Given the description of an element on the screen output the (x, y) to click on. 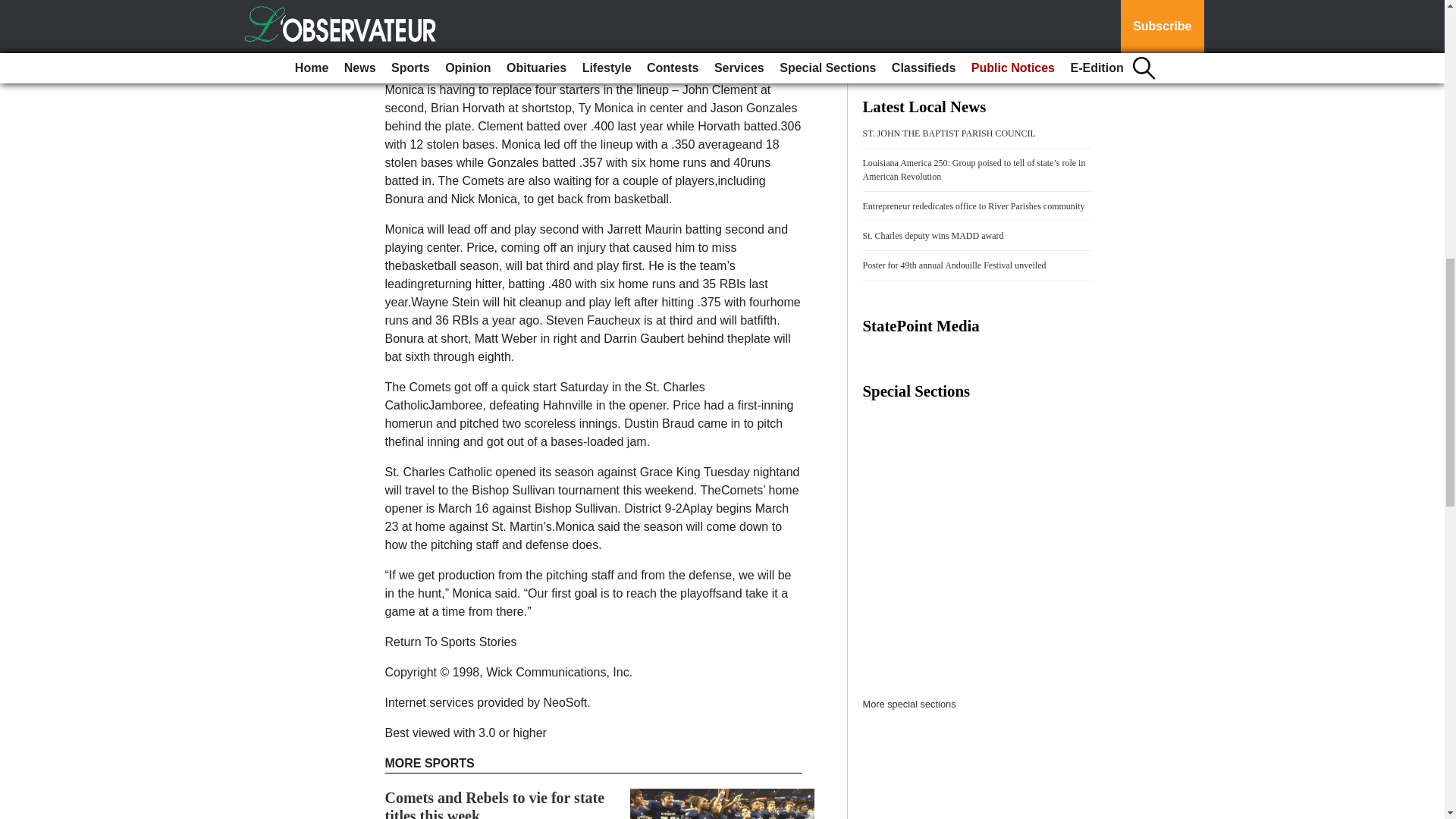
Entrepreneur rededicates office to River Parishes community (973, 205)
Comets and Rebels to vie for state titles this week (495, 804)
St. Charles deputy wins MADD award (933, 235)
ST. JOHN THE BAPTIST PARISH COUNCIL (949, 132)
Tickets (908, 26)
How to Watch (921, 6)
Power Rankings (999, 6)
Comets and Rebels to vie for state titles this week (495, 804)
